Given the description of an element on the screen output the (x, y) to click on. 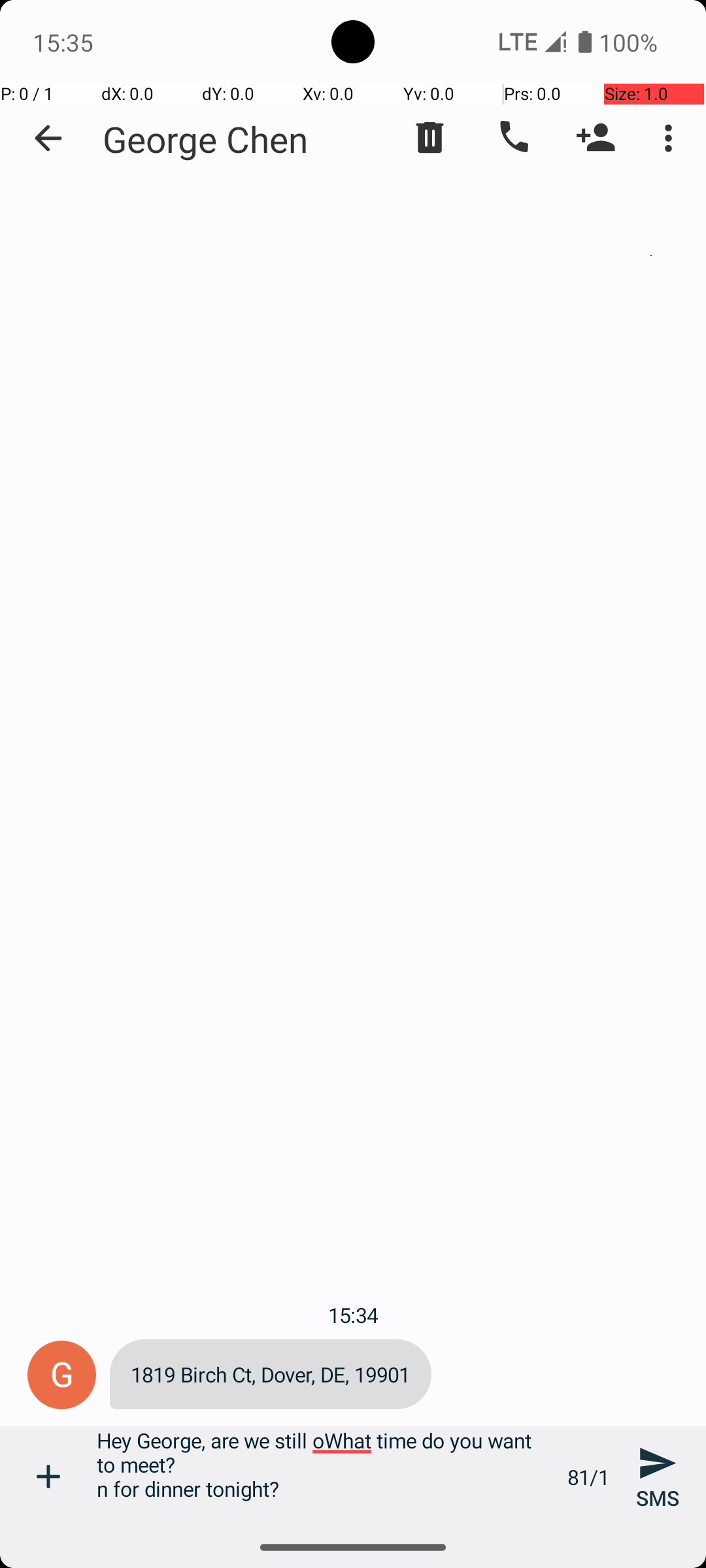
George Chen Element type: android.widget.TextView (205, 138)
Hey George, are we still oWhat time do you want to meet?
n for dinner tonight?
 Element type: android.widget.EditText (324, 1476)
81/1 Element type: android.widget.TextView (588, 1476)
1819 Birch Ct, Dover, DE, 19901 Element type: android.widget.TextView (270, 1374)
